Given the description of an element on the screen output the (x, y) to click on. 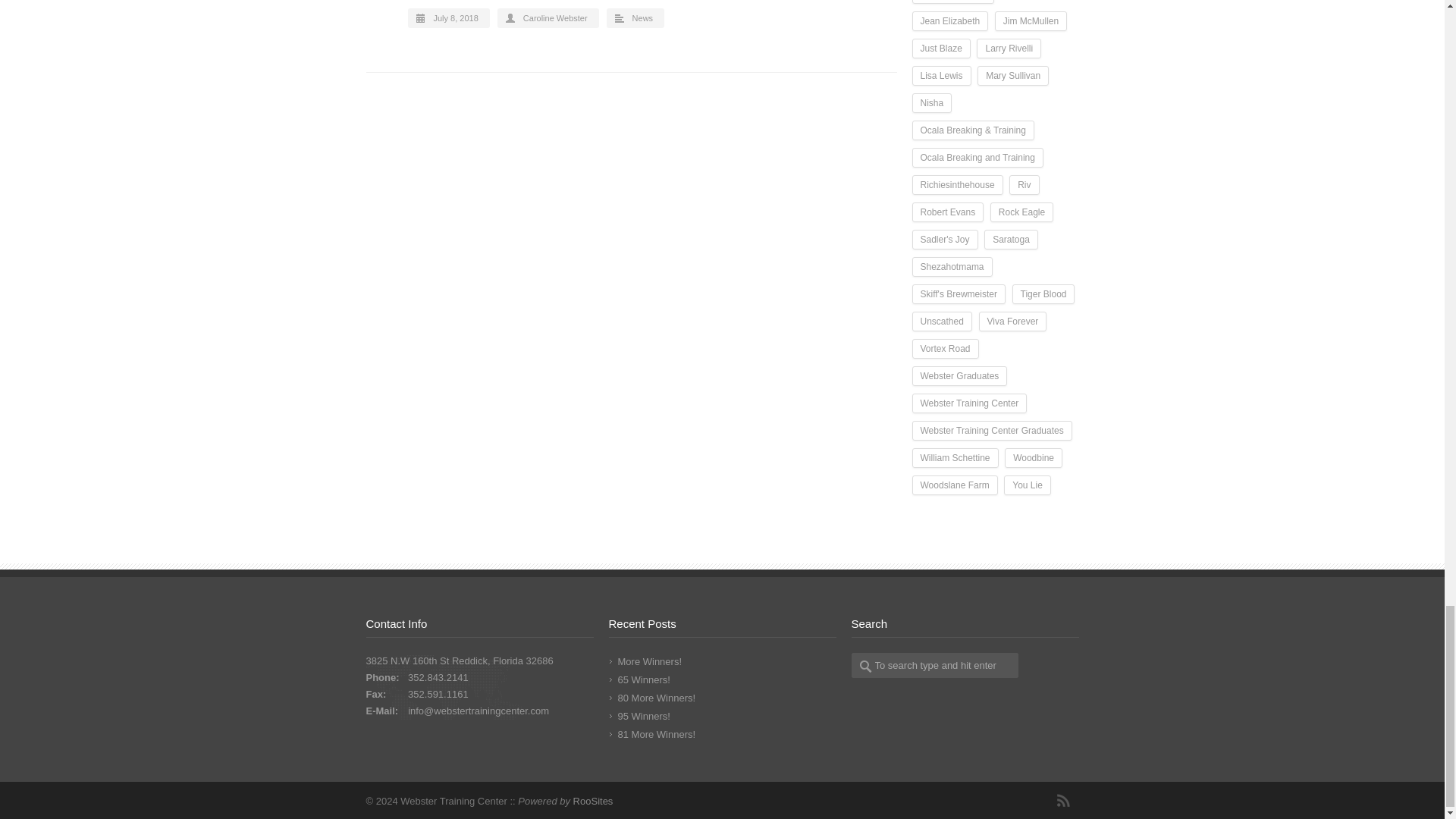
Powered by RooSites (592, 800)
To search type and hit enter (933, 665)
